Given the description of an element on the screen output the (x, y) to click on. 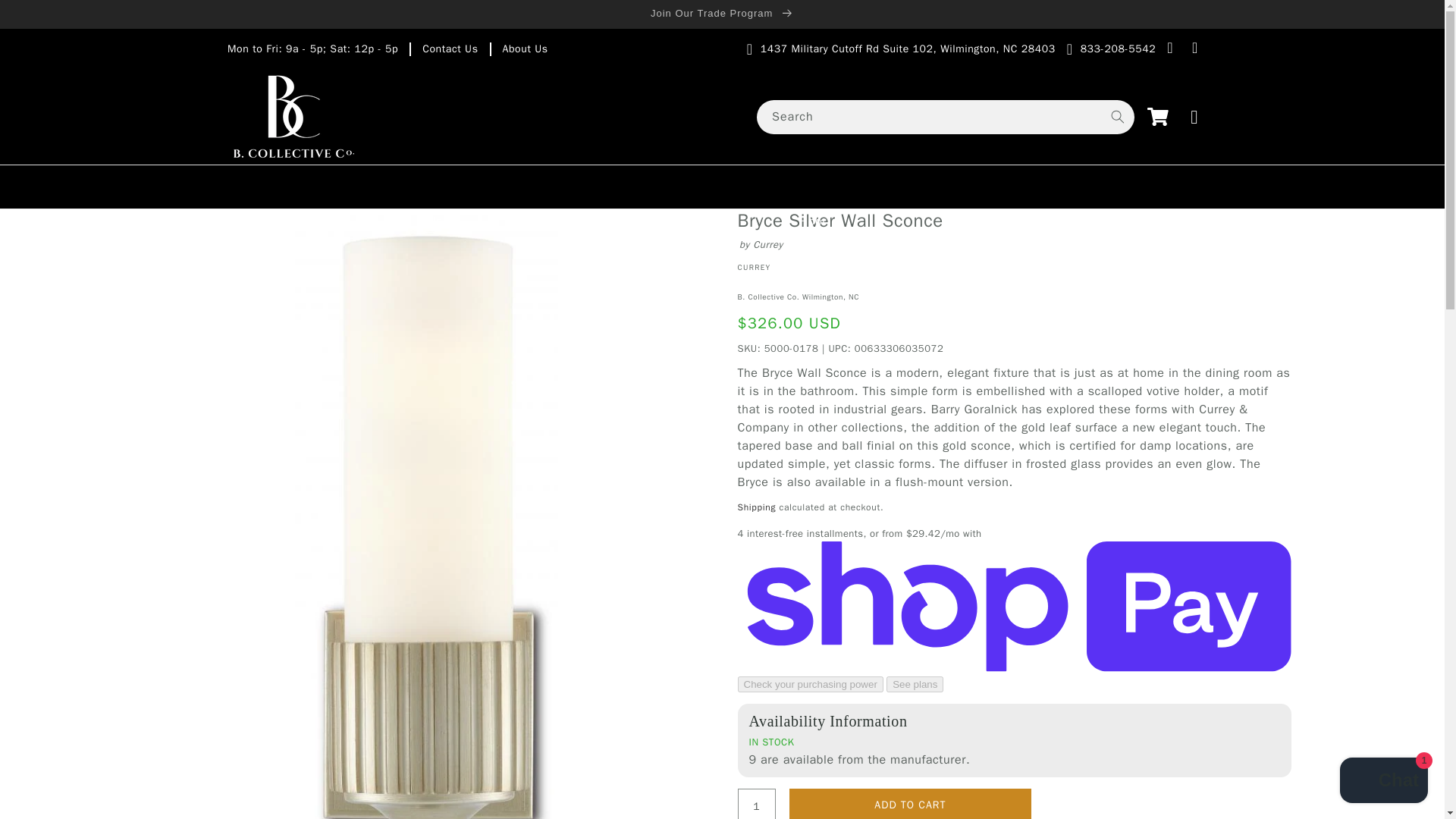
833-208-5542 (1118, 48)
Log in (1194, 116)
1 (755, 803)
Cart (1157, 116)
Shopify online store chat (1383, 781)
Skip to content (45, 16)
Contact Us (449, 48)
About Us (525, 48)
